Given the description of an element on the screen output the (x, y) to click on. 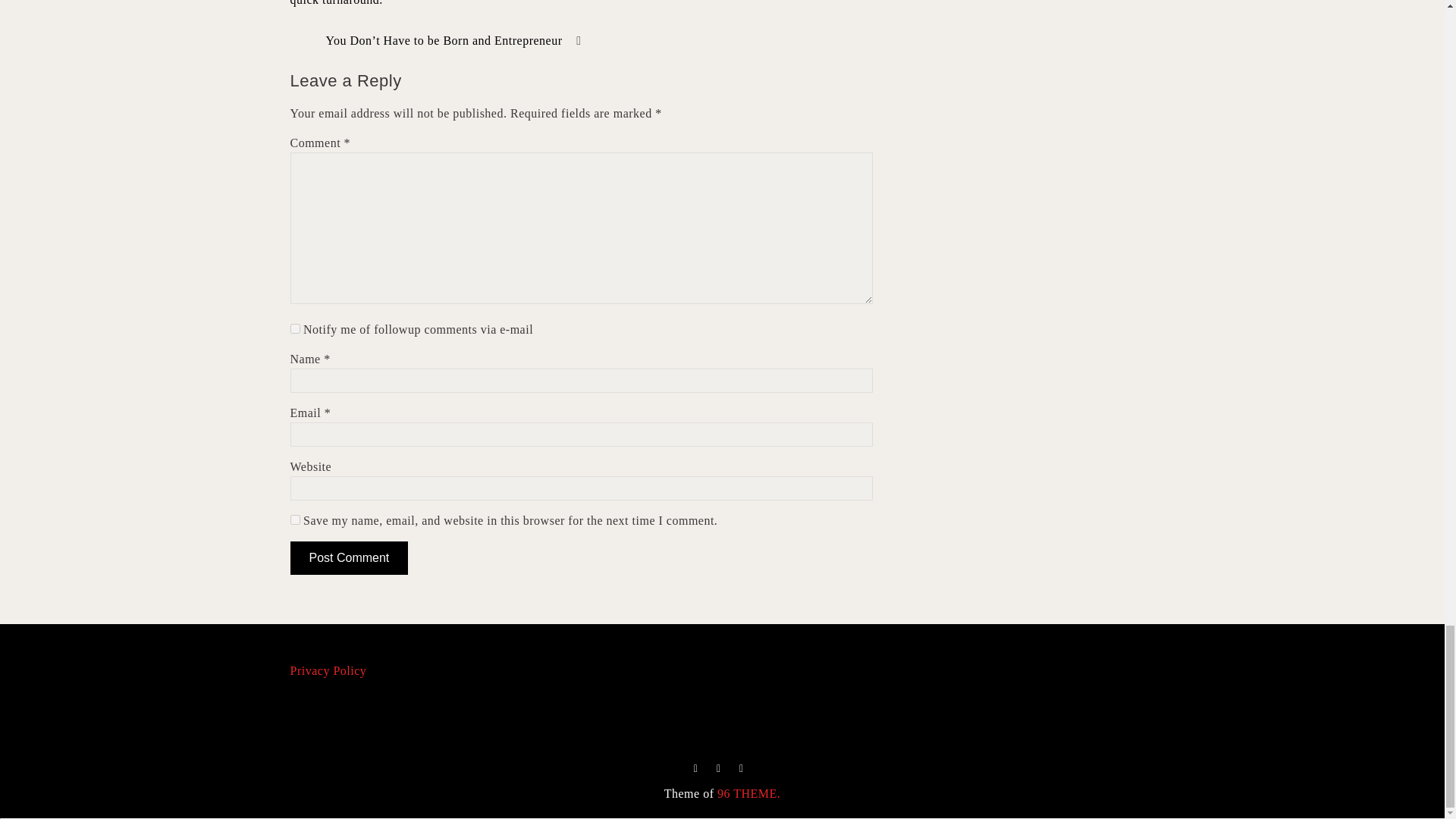
subscribe (294, 328)
Post Comment (348, 557)
Post Comment (348, 557)
yes (294, 519)
96 THEME. (748, 793)
Privacy Policy (327, 670)
